Given the description of an element on the screen output the (x, y) to click on. 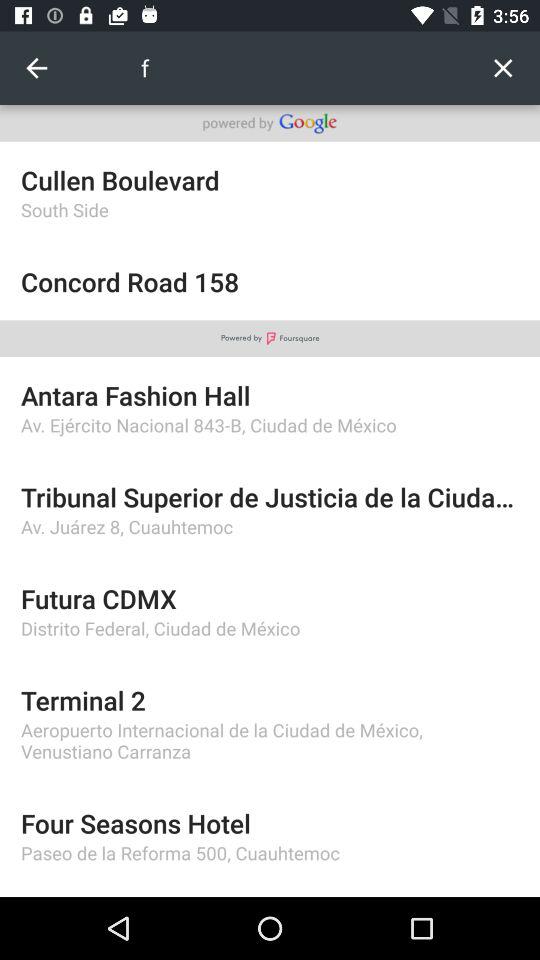
open concord road 158 icon (270, 281)
